Given the description of an element on the screen output the (x, y) to click on. 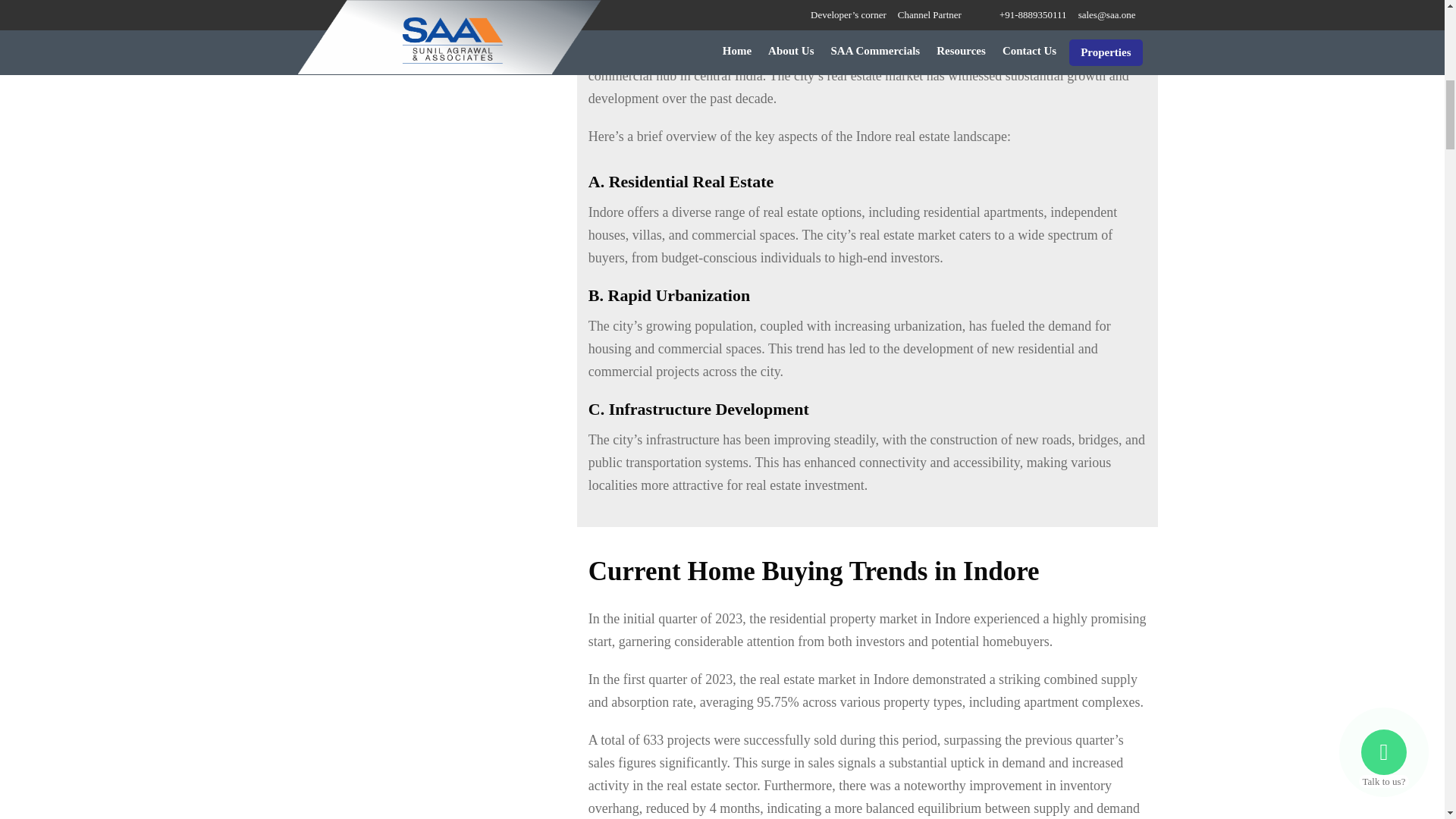
Get the best quote to buy Residential Property In Indore (431, 5)
